Given the description of an element on the screen output the (x, y) to click on. 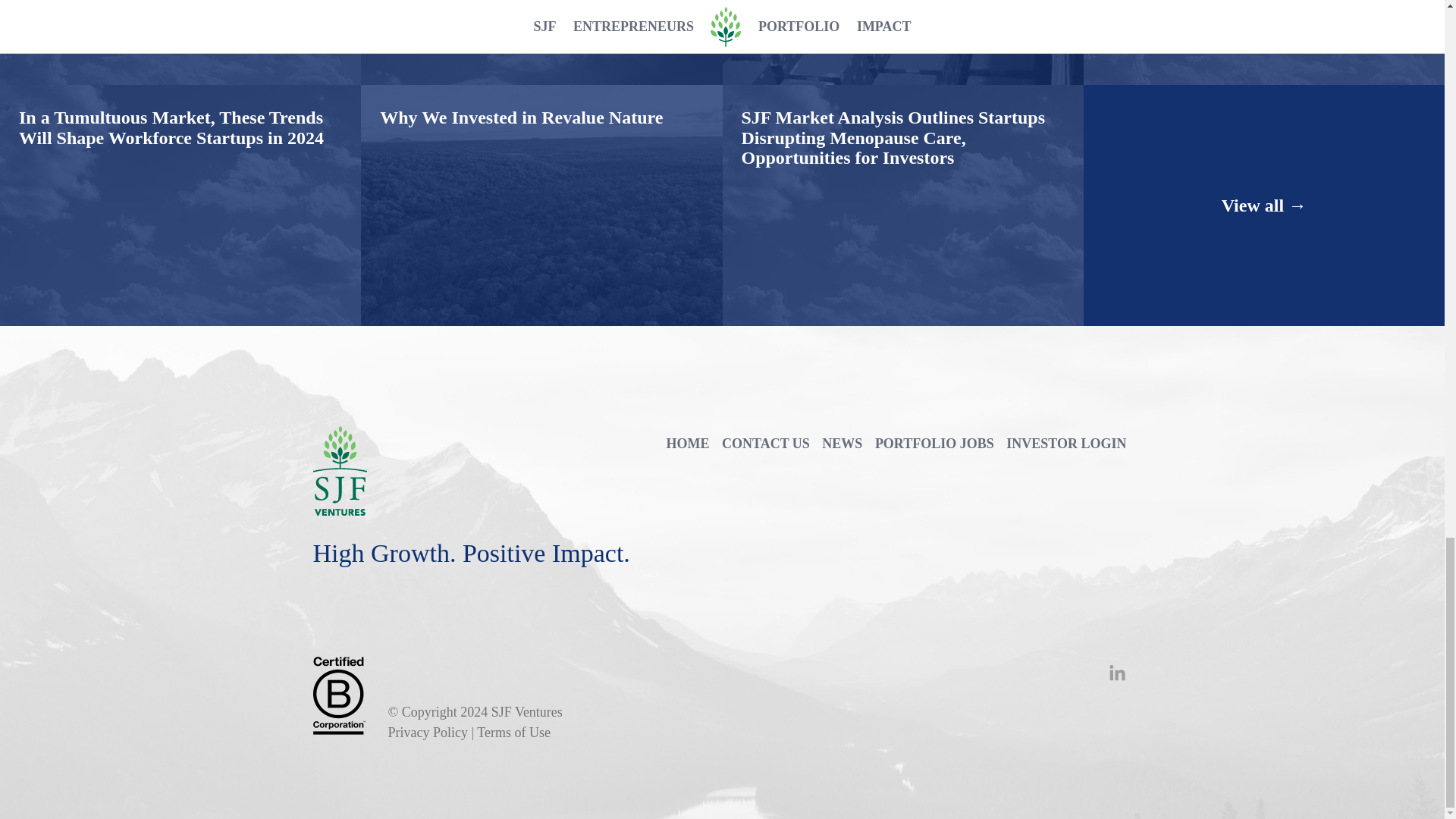
HOME (687, 443)
Why We Invested in Revalue Nature (521, 90)
